Given the description of an element on the screen output the (x, y) to click on. 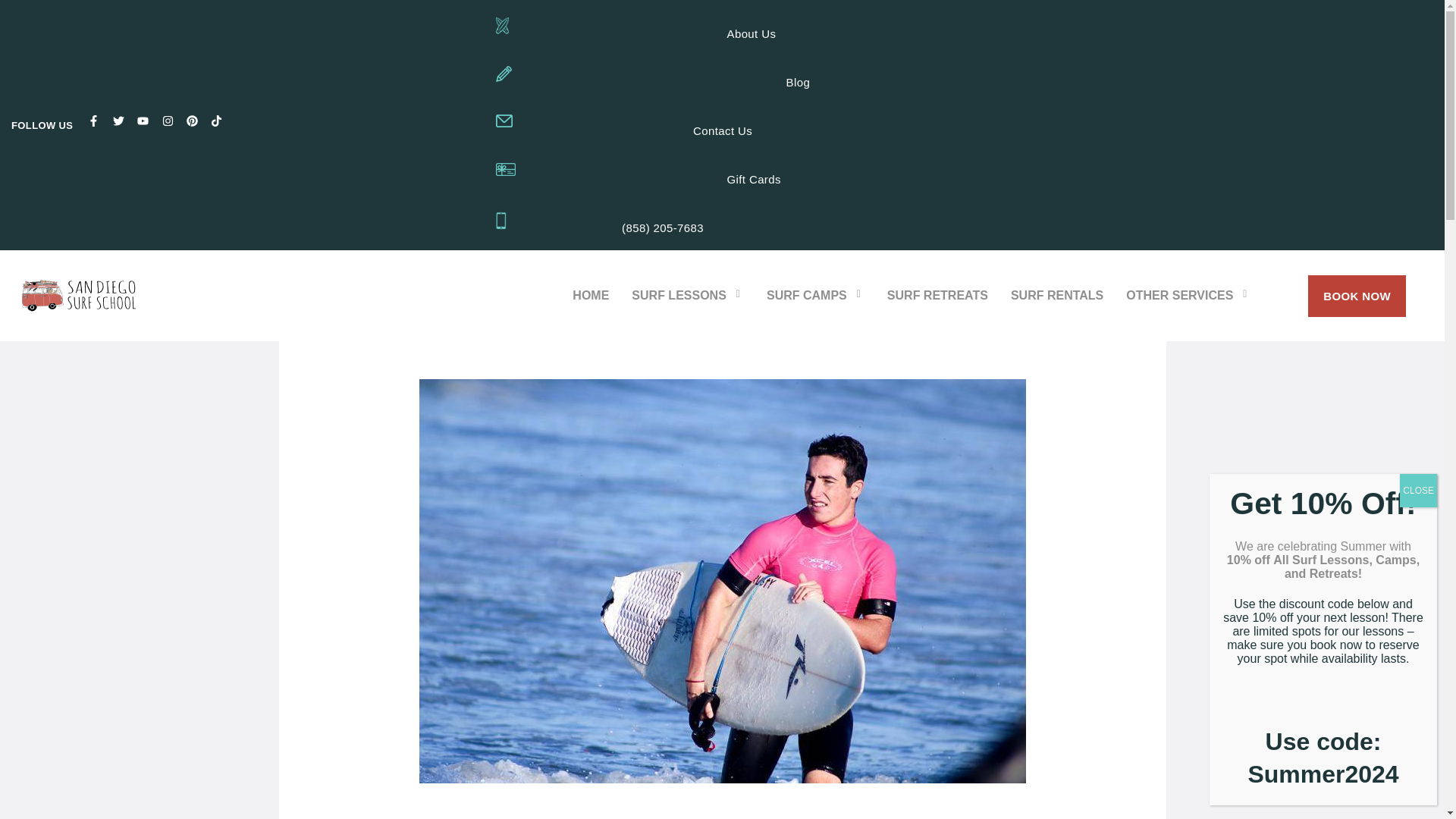
Opens a widget where you can chat to one of our agents (1386, 773)
Blog (798, 82)
SURF LESSONS (687, 295)
HOME (590, 295)
About Us (751, 34)
Contact Us (722, 130)
Gift Cards (753, 179)
